Given the description of an element on the screen output the (x, y) to click on. 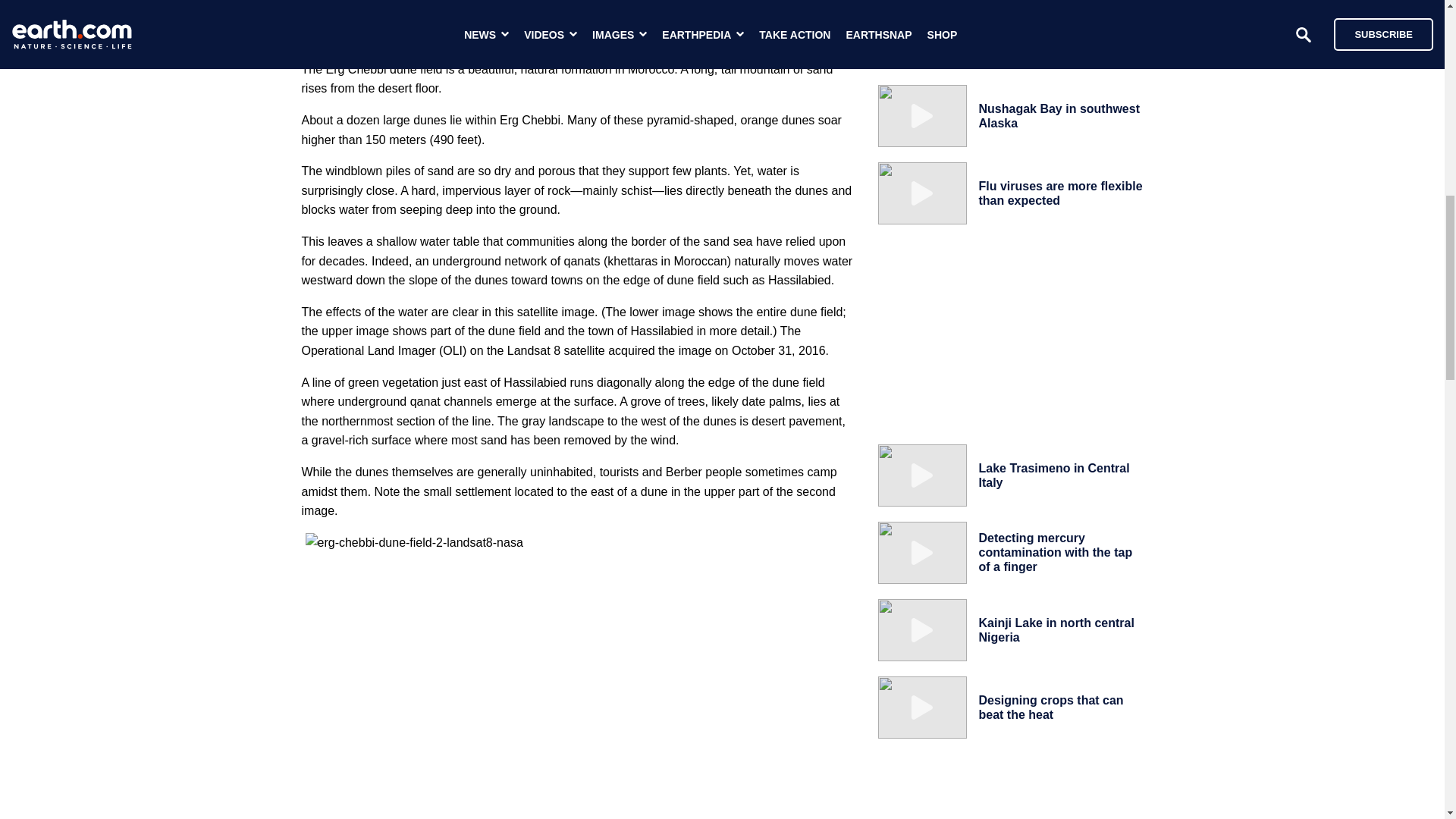
Nushagak Bay in southwest Alaska (1059, 114)
Flu viruses are more flexible than expected (1059, 192)
Kainji Lake in north central Nigeria (1056, 628)
Detecting mercury contamination with the tap of a finger (1055, 552)
Designing crops that can beat the heat (1050, 706)
Lake Trasimeno in Central Italy (1053, 474)
